Given the description of an element on the screen output the (x, y) to click on. 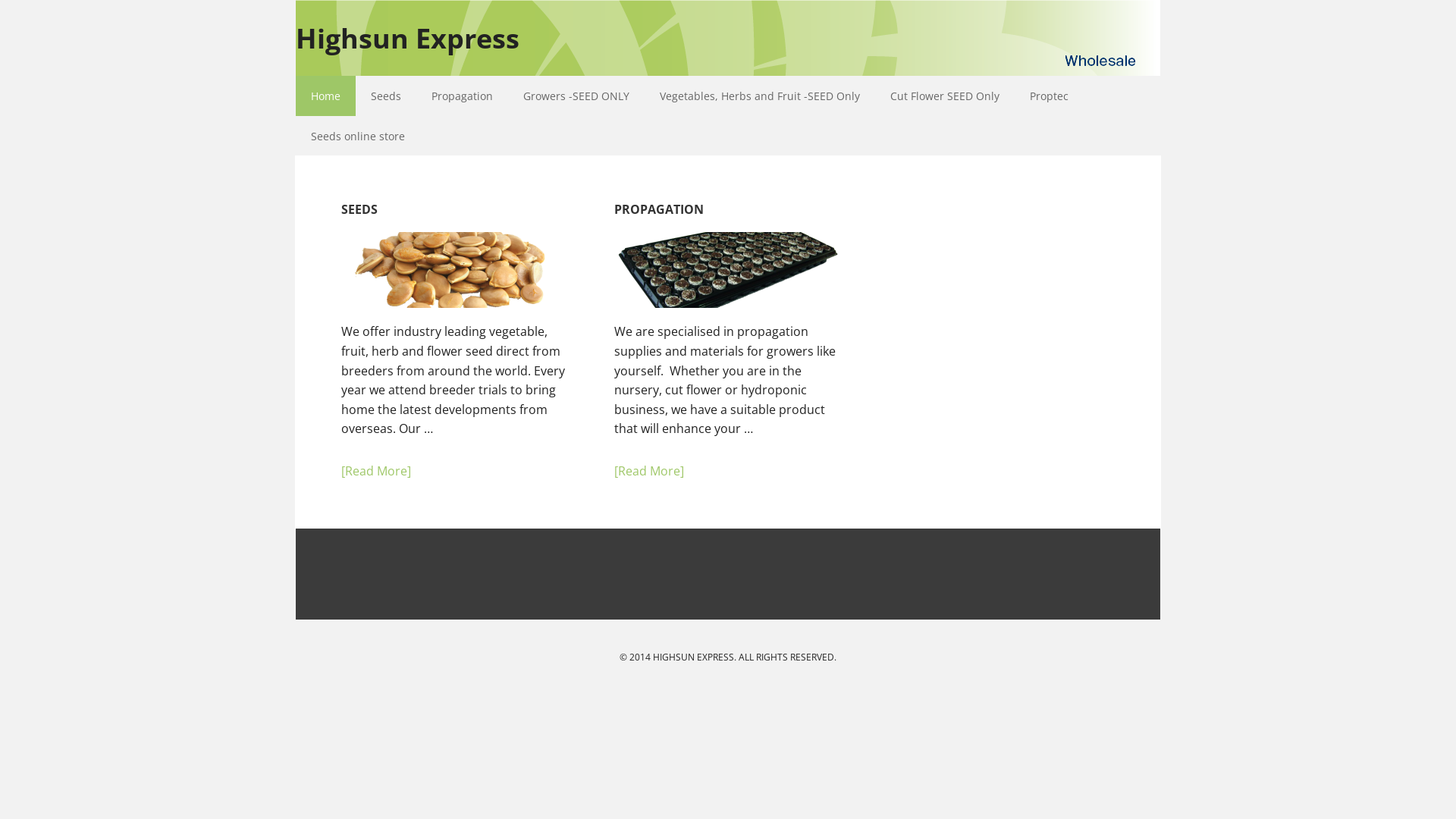
Vegetables, Herbs and Fruit -SEED Only Element type: text (759, 95)
Propagation Element type: text (462, 95)
Cut Flower SEED Only Element type: text (944, 95)
Growers -SEED ONLY Element type: text (576, 95)
[Read More] Element type: text (727, 471)
[Read More] Element type: text (454, 471)
Home Element type: text (325, 95)
Seeds Element type: text (385, 95)
Proptec Element type: text (1048, 95)
Highsun Express Element type: text (416, 27)
Seeds online store Element type: text (357, 136)
